Given the description of an element on the screen output the (x, y) to click on. 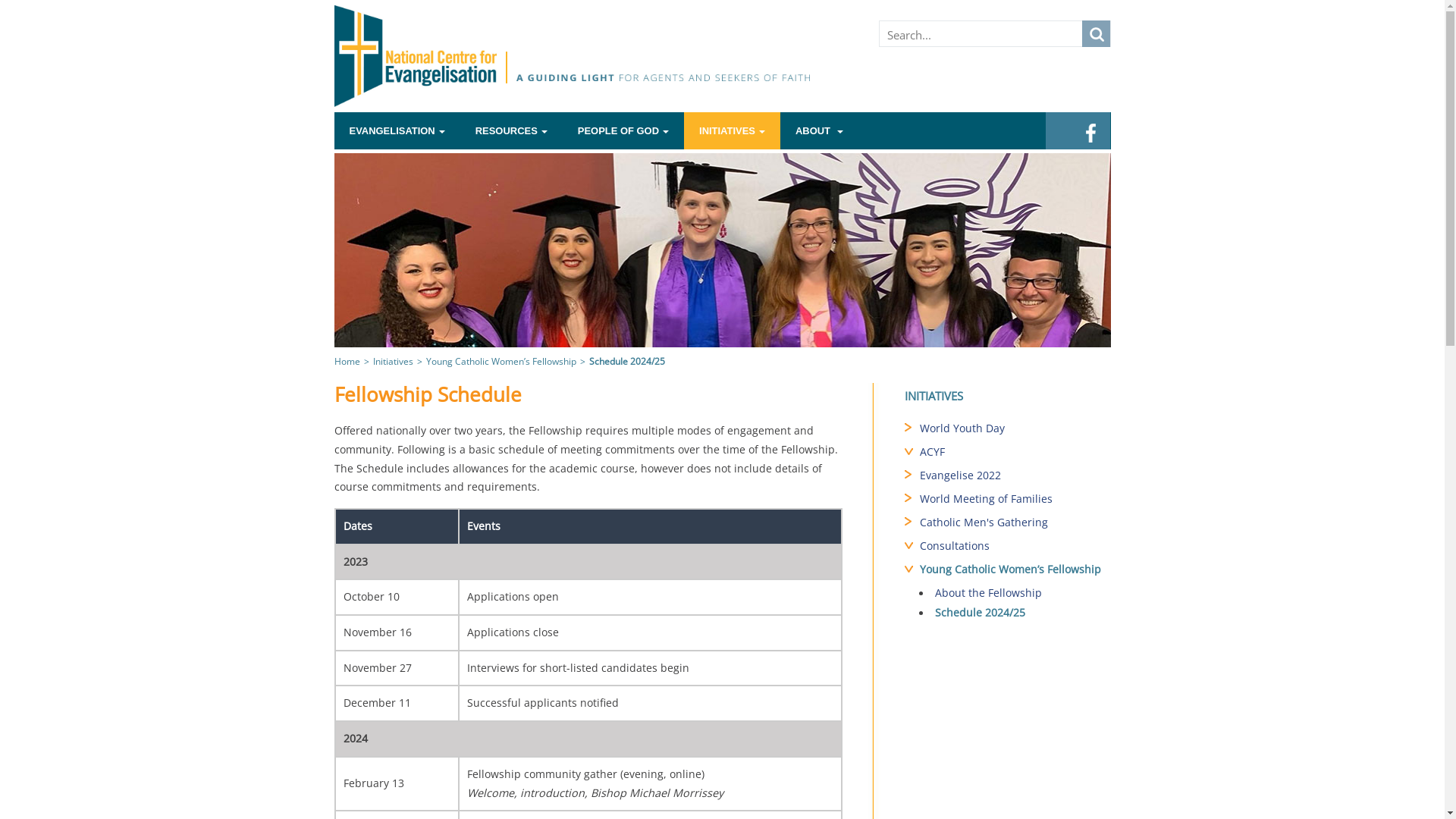
Evangelise 2022 Element type: text (1014, 476)
World Meeting of Families Element type: text (1014, 500)
About the Fellowship Element type: text (1015, 594)
World Youth Day Element type: text (1014, 429)
SEARCH Element type: text (1095, 33)
Schedule 2024/25 Element type: text (1015, 614)
Home Element type: text (346, 360)
Consultations Element type: text (1014, 547)
ACYF Element type: text (1014, 453)
Catholic Men's Gathering Element type: text (1014, 523)
